Given the description of an element on the screen output the (x, y) to click on. 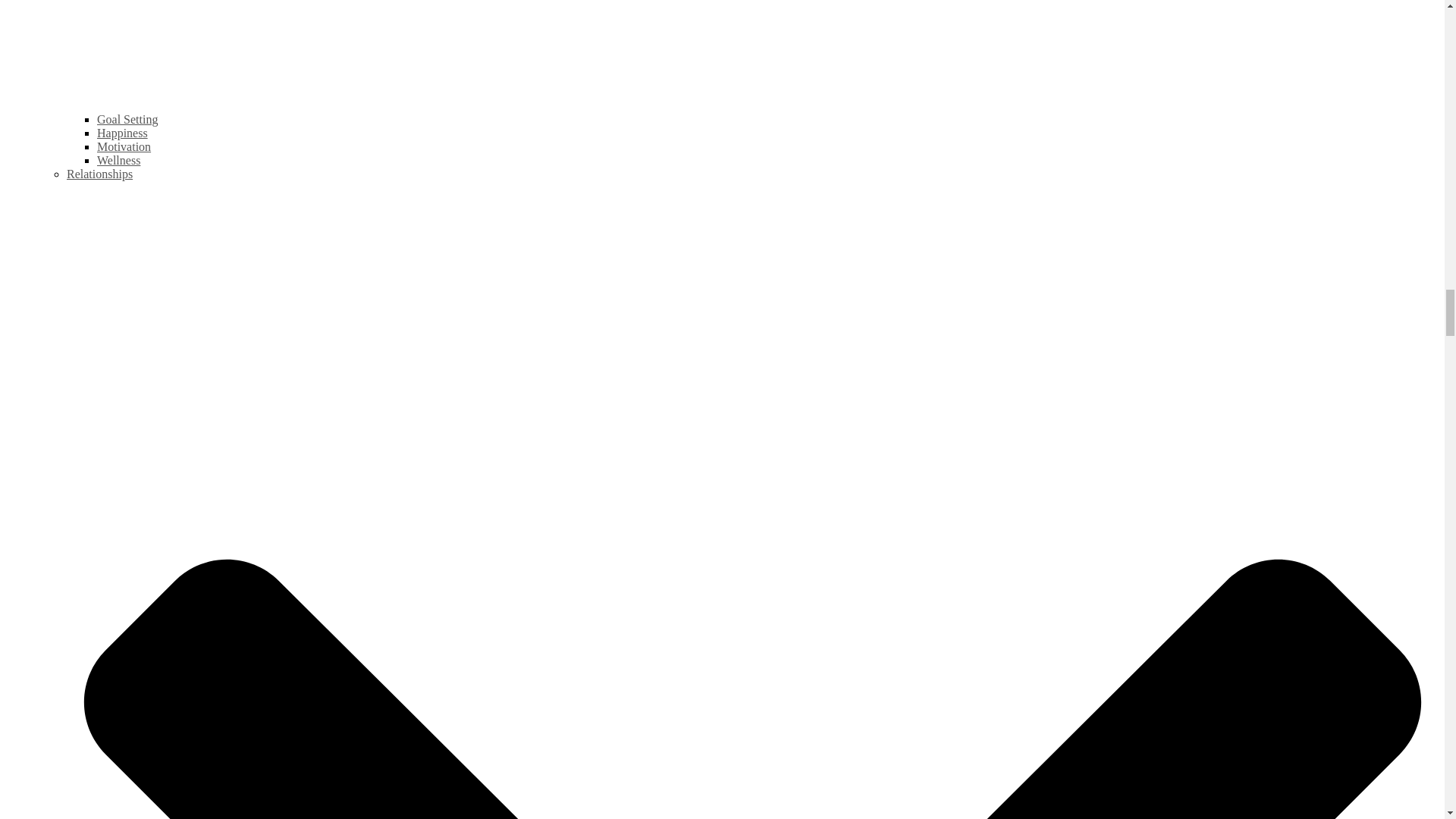
Wellness (118, 160)
Goal Setting (127, 119)
Motivation (124, 146)
Happiness (122, 132)
